Given the description of an element on the screen output the (x, y) to click on. 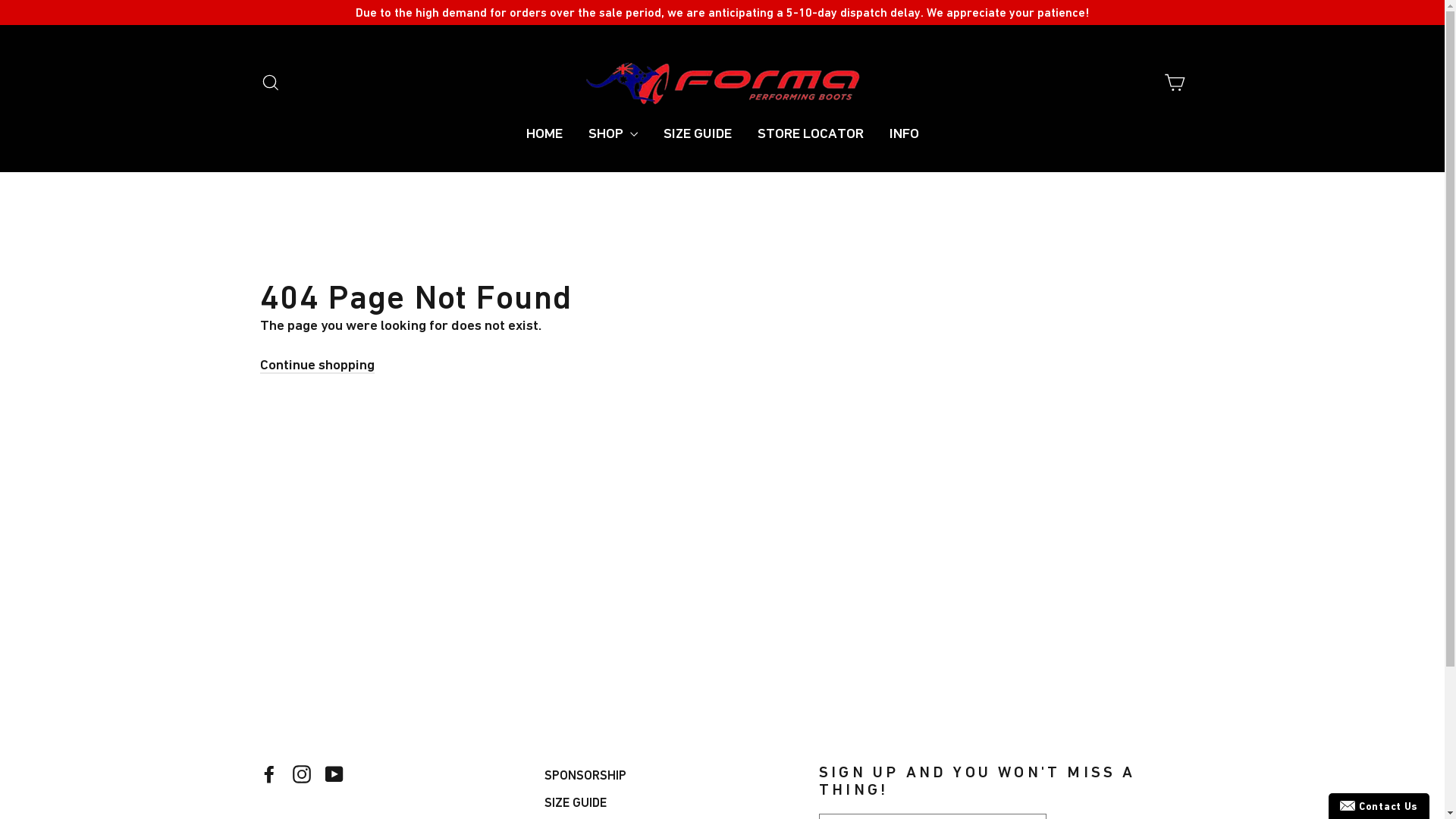
SHOP Element type: text (612, 133)
STORE LOCATOR Element type: text (810, 133)
Continue shopping Element type: text (316, 364)
SPONSORSHIP Element type: text (670, 775)
Skip to content Element type: text (0, 0)
Search Element type: text (269, 82)
Facebook Element type: text (268, 773)
INFO Element type: text (904, 133)
SIZE GUIDE Element type: text (697, 133)
YouTube Element type: text (333, 773)
Instagram Element type: text (301, 773)
Cart Element type: text (1173, 82)
SIZE GUIDE Element type: text (670, 802)
HOME Element type: text (543, 133)
